Given the description of an element on the screen output the (x, y) to click on. 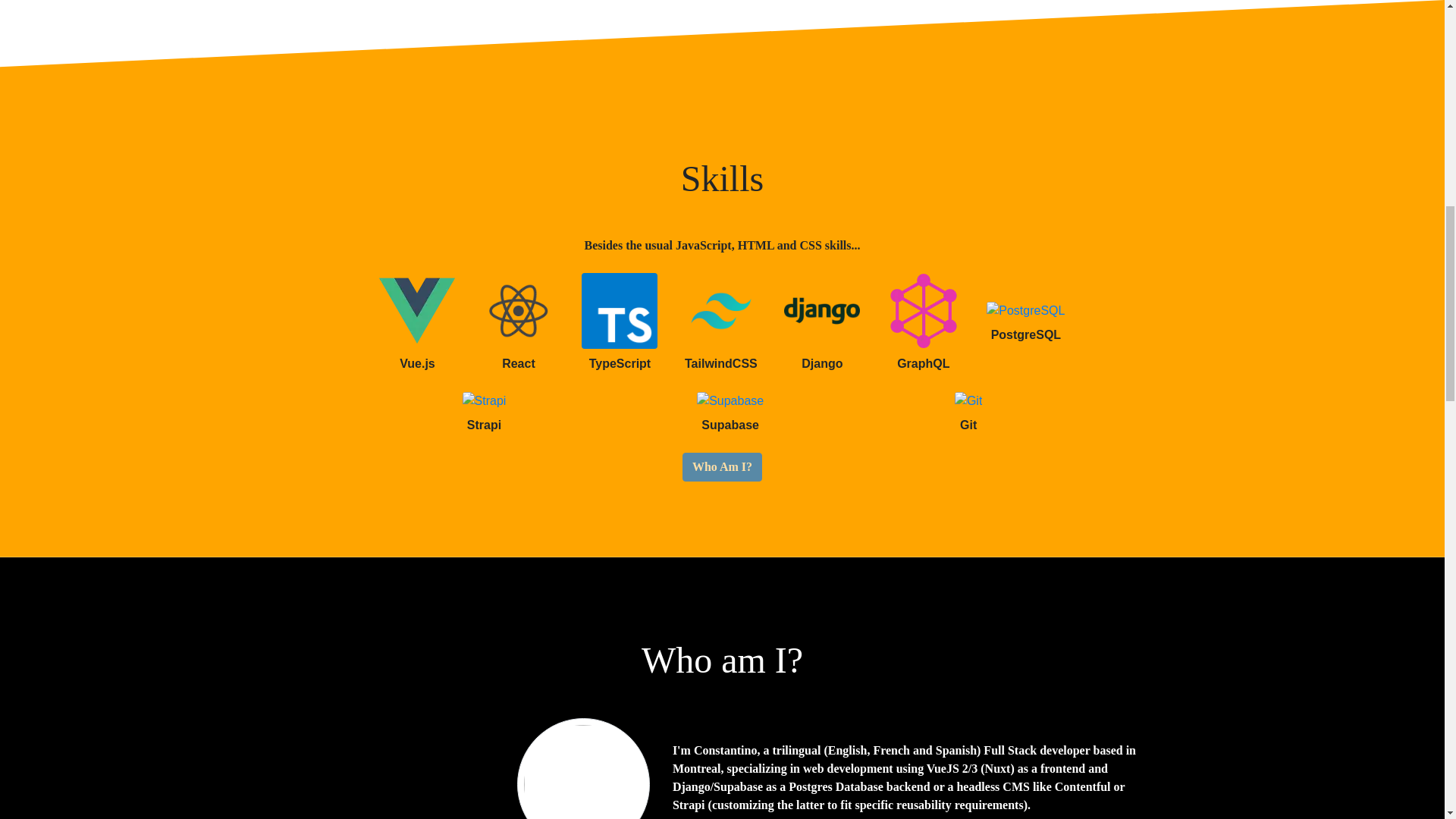
Django (822, 310)
React (518, 310)
TailwindCSS (720, 310)
Vue.js (416, 310)
PostgreSQL (1025, 311)
TypeScript (619, 310)
Git (968, 401)
Supabase (729, 401)
Who Am I? (721, 466)
GraphQL (922, 310)
Strapi (484, 401)
